Given the description of an element on the screen output the (x, y) to click on. 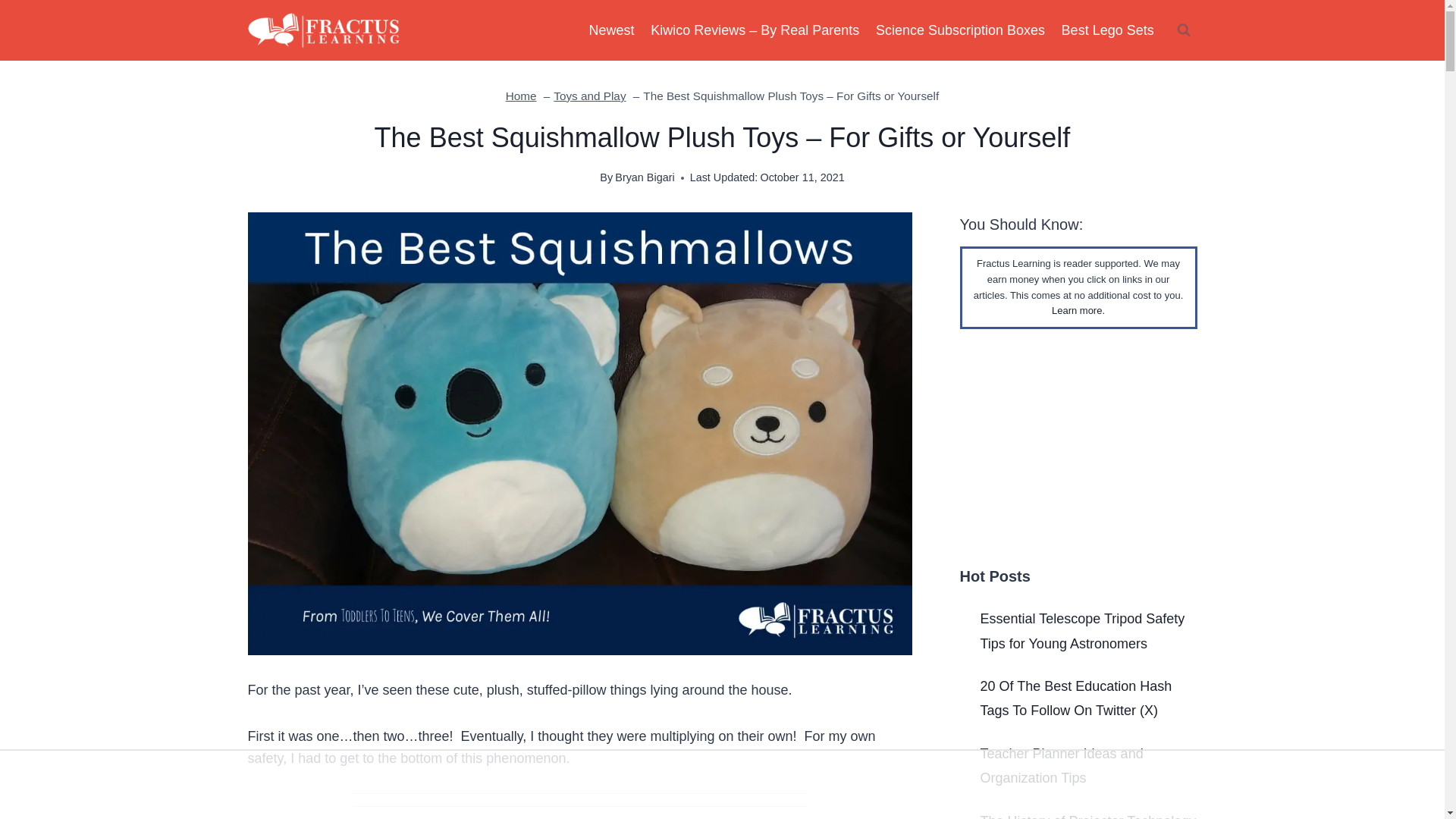
Best Lego Sets (1106, 30)
Newest (611, 30)
Home (521, 95)
Science Subscription Boxes (959, 30)
Toys and Play (589, 95)
